Given the description of an element on the screen output the (x, y) to click on. 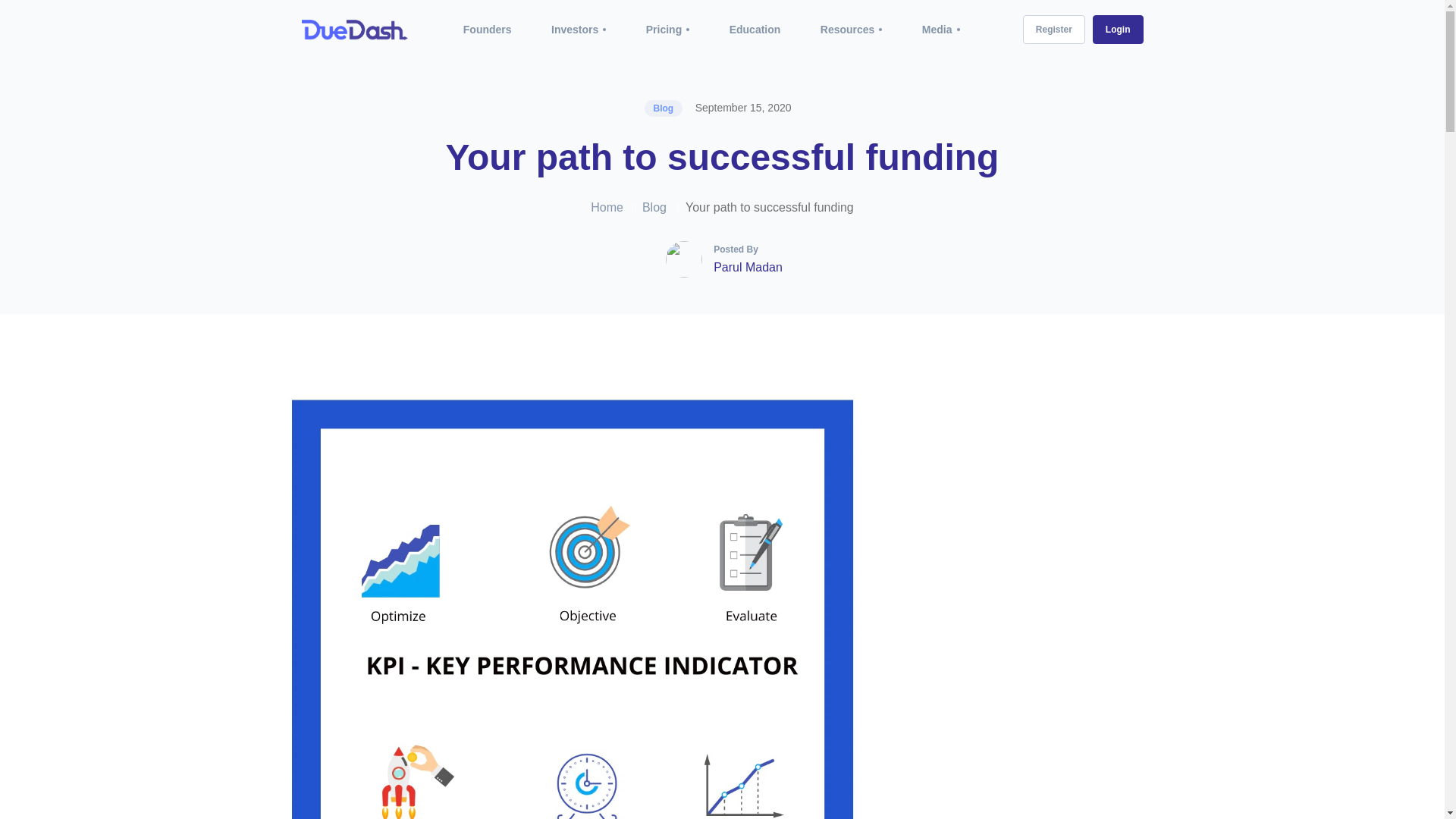
Login (1117, 29)
Founders (487, 29)
Investors (574, 29)
Pricing (663, 29)
Register (1053, 29)
Media (936, 29)
Education (754, 29)
Resources (848, 29)
